Given the description of an element on the screen output the (x, y) to click on. 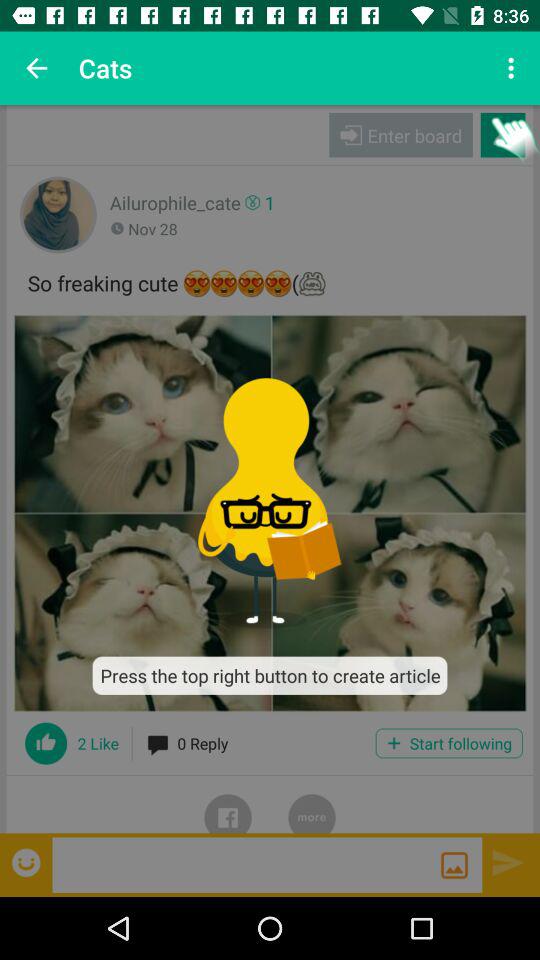
emoticon page (28, 862)
